Given the description of an element on the screen output the (x, y) to click on. 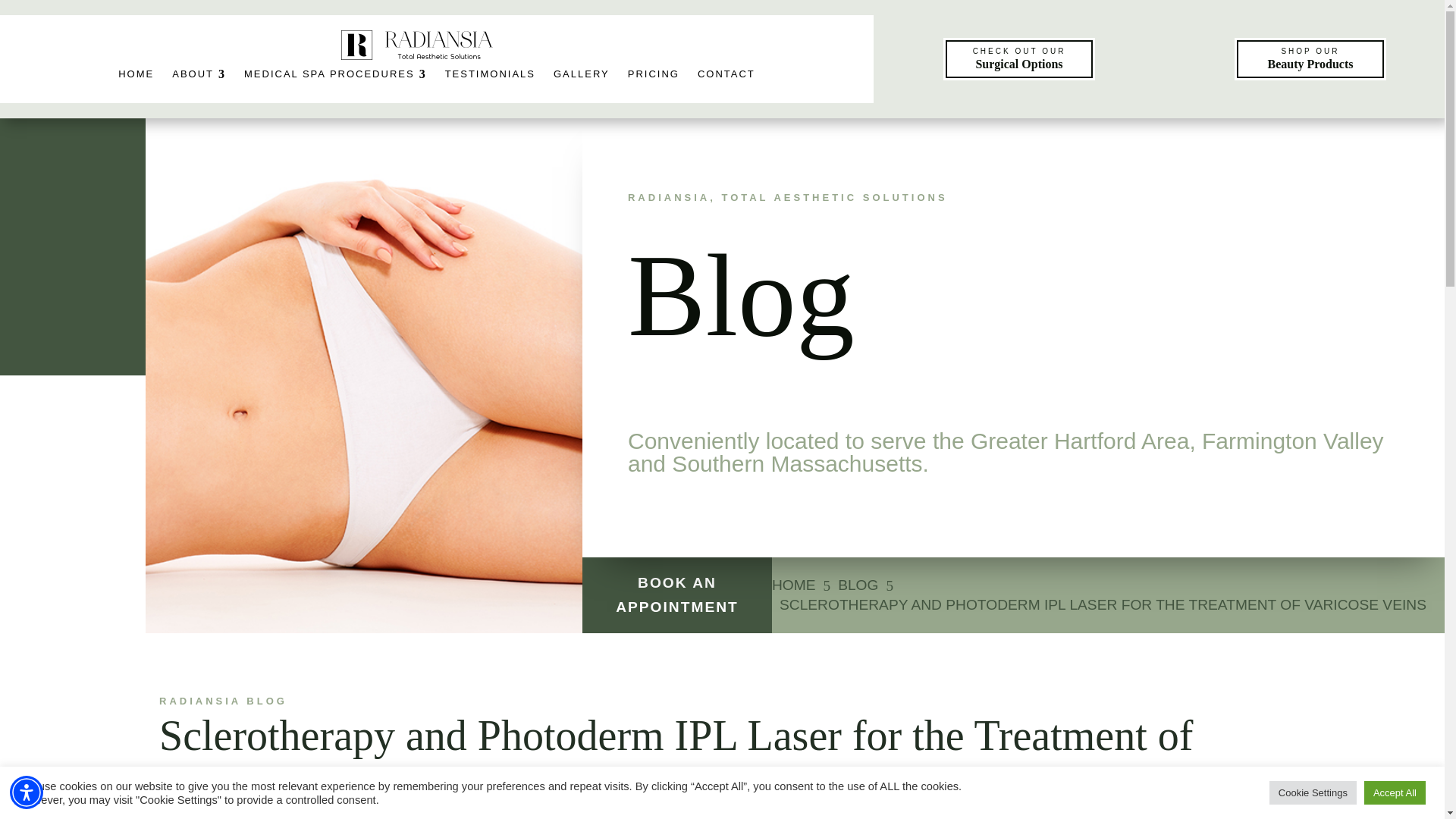
HOME (136, 73)
ABOUT (198, 73)
MEDICAL SPA PROCEDURES (334, 73)
Accessibility Menu (26, 792)
